Given the description of an element on the screen output the (x, y) to click on. 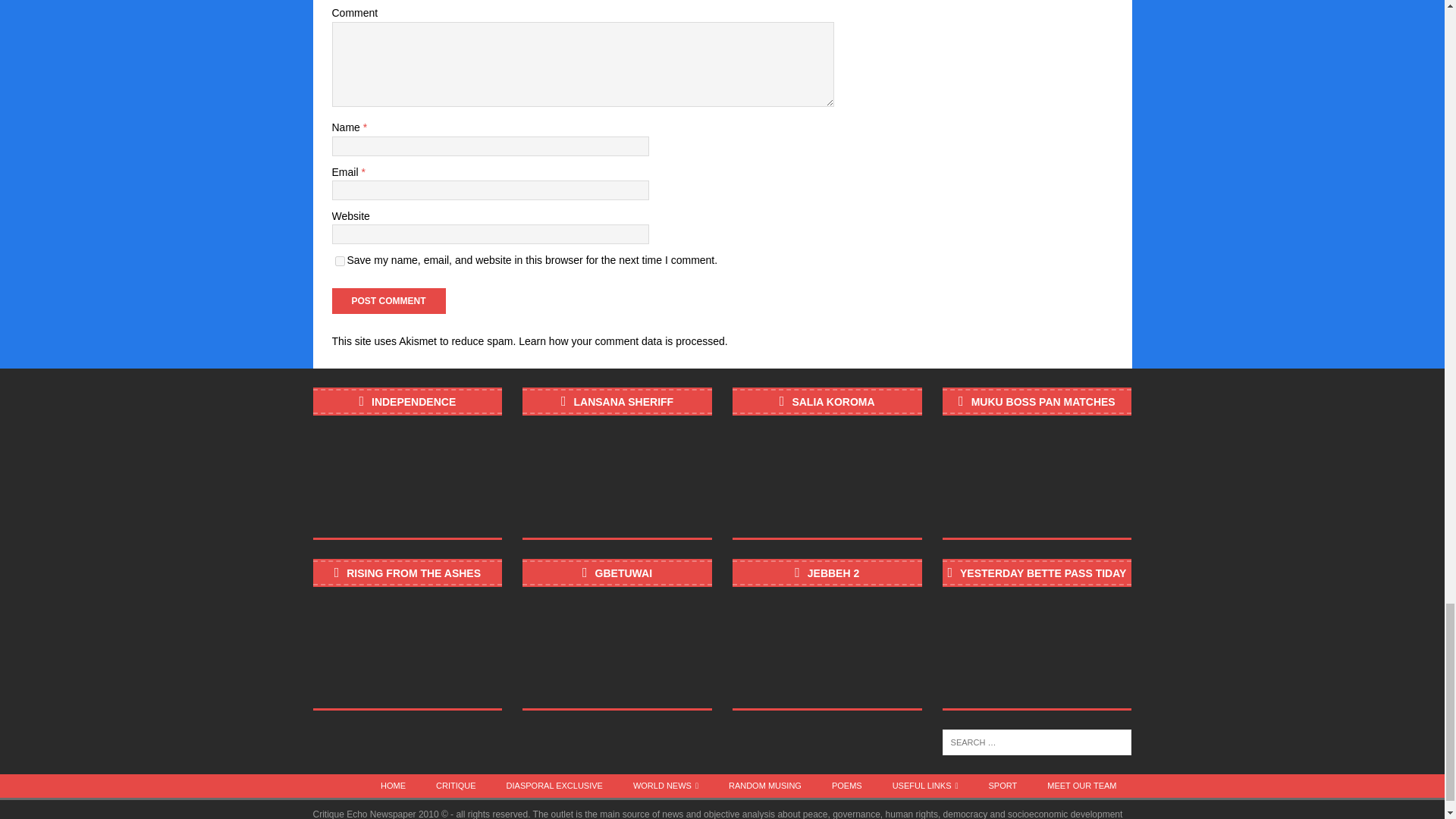
yes (339, 261)
Post Comment (388, 300)
